Given the description of an element on the screen output the (x, y) to click on. 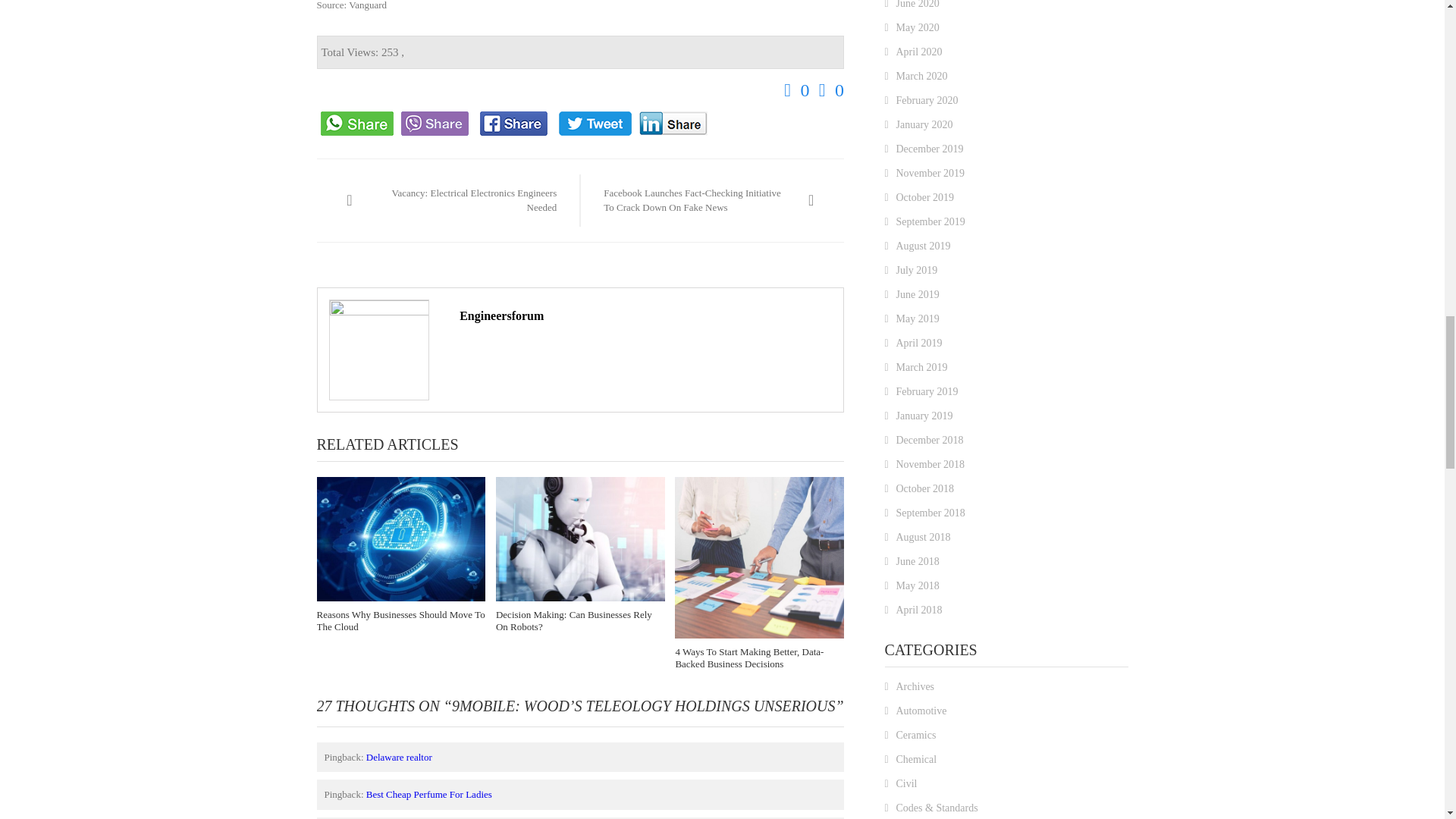
Reasons Why Businesses Should Move To The Cloud (401, 538)
Decision Making: Can Businesses Rely On Robots? (580, 538)
